Given the description of an element on the screen output the (x, y) to click on. 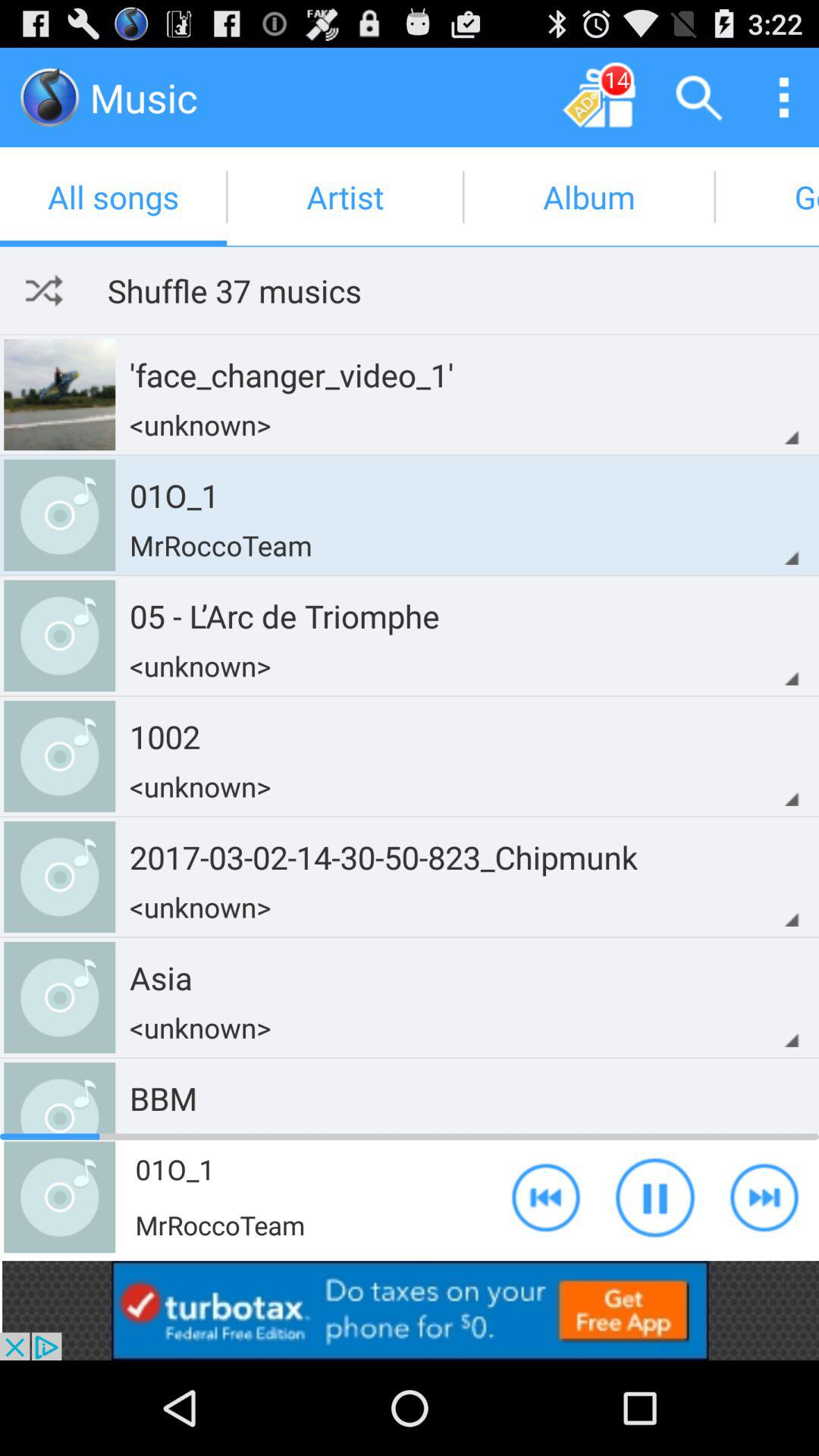
go to seacrch option (699, 97)
